Given the description of an element on the screen output the (x, y) to click on. 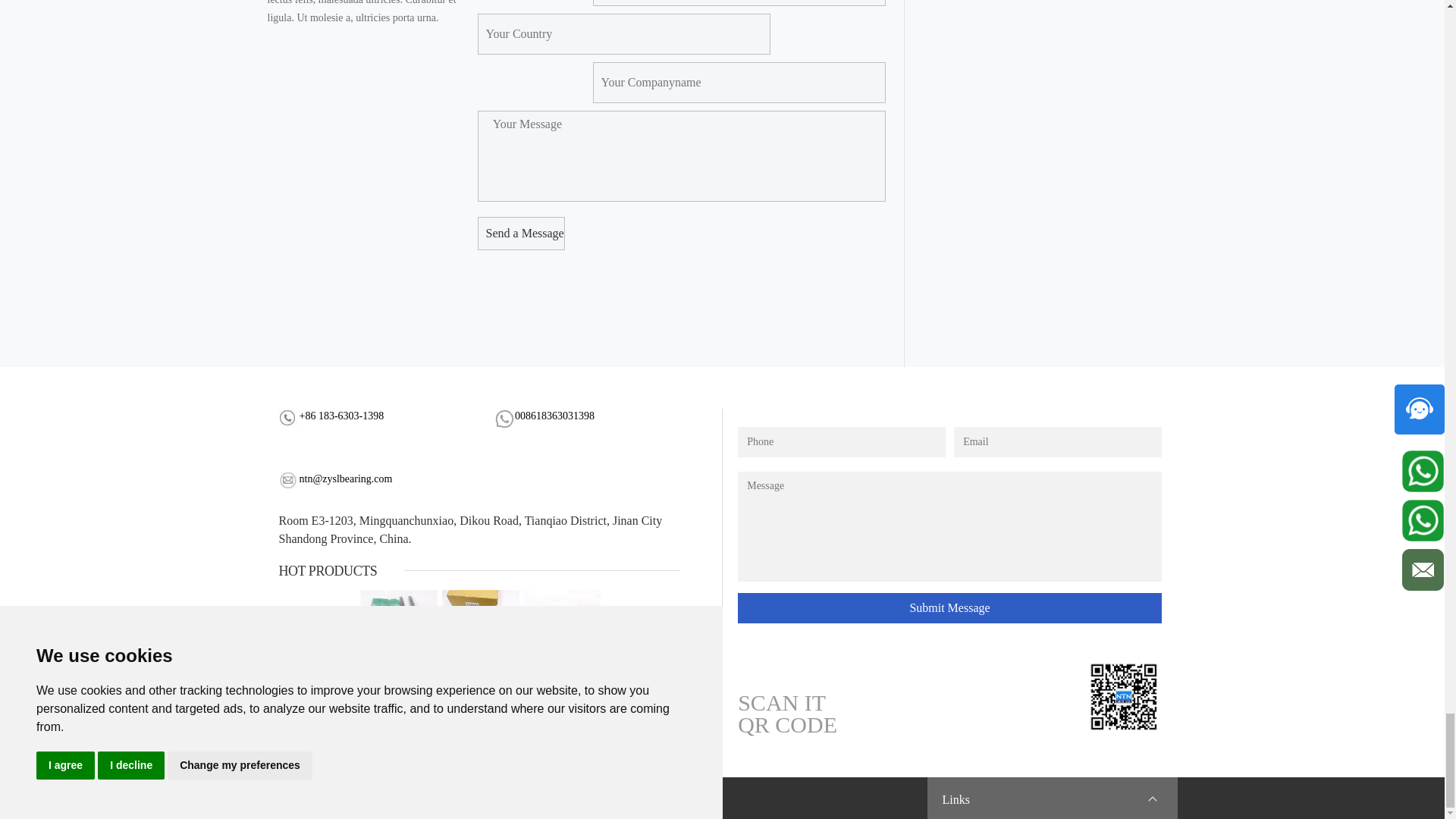
Submit Message (949, 607)
Send a Message (520, 233)
